Given the description of an element on the screen output the (x, y) to click on. 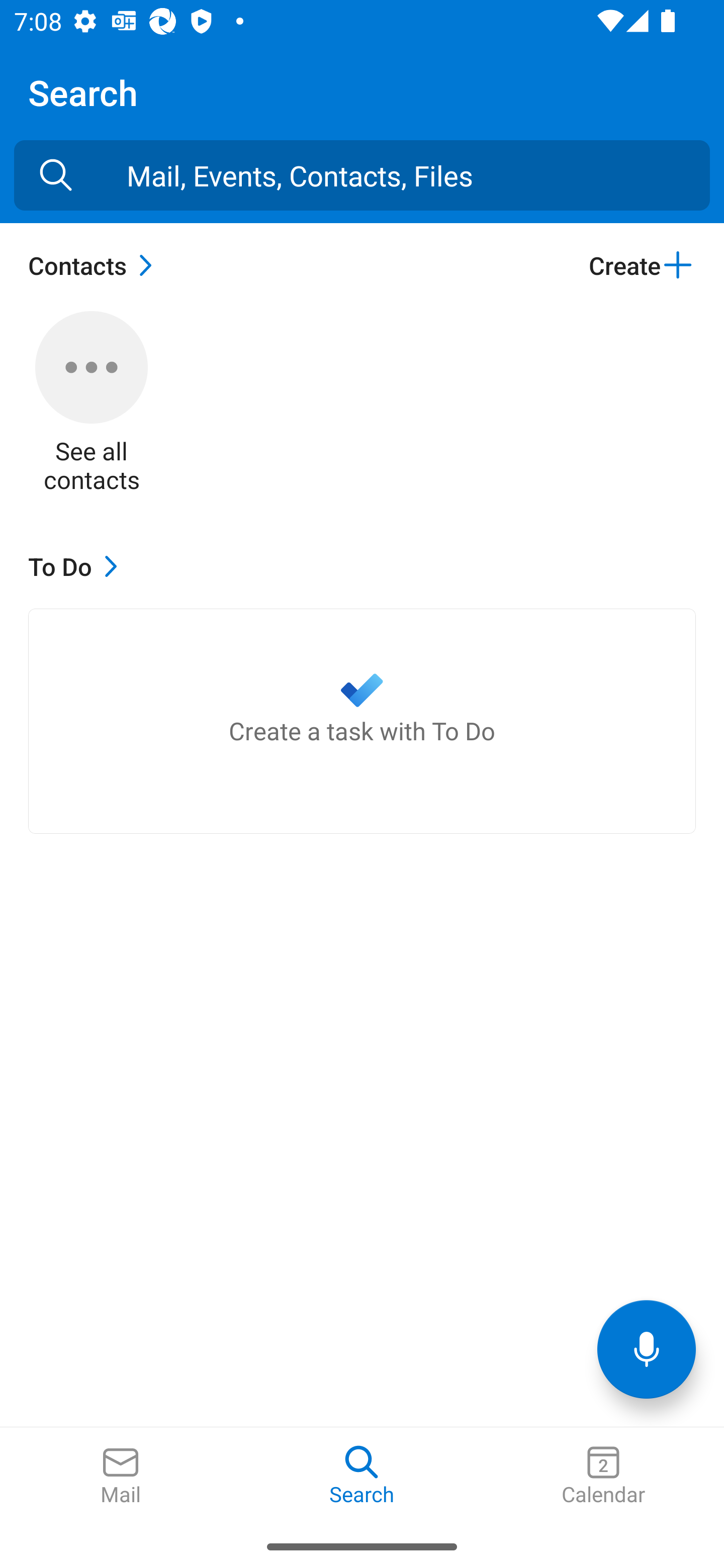
Search Mail, Events, Contacts, Files (55, 174)
Contacts (95, 264)
Create Create contact (641, 264)
See all contacts (91, 402)
To Do (77, 565)
Create a task with To Do (361, 721)
Voice Assistant (646, 1348)
Mail (120, 1475)
Calendar (603, 1475)
